Given the description of an element on the screen output the (x, y) to click on. 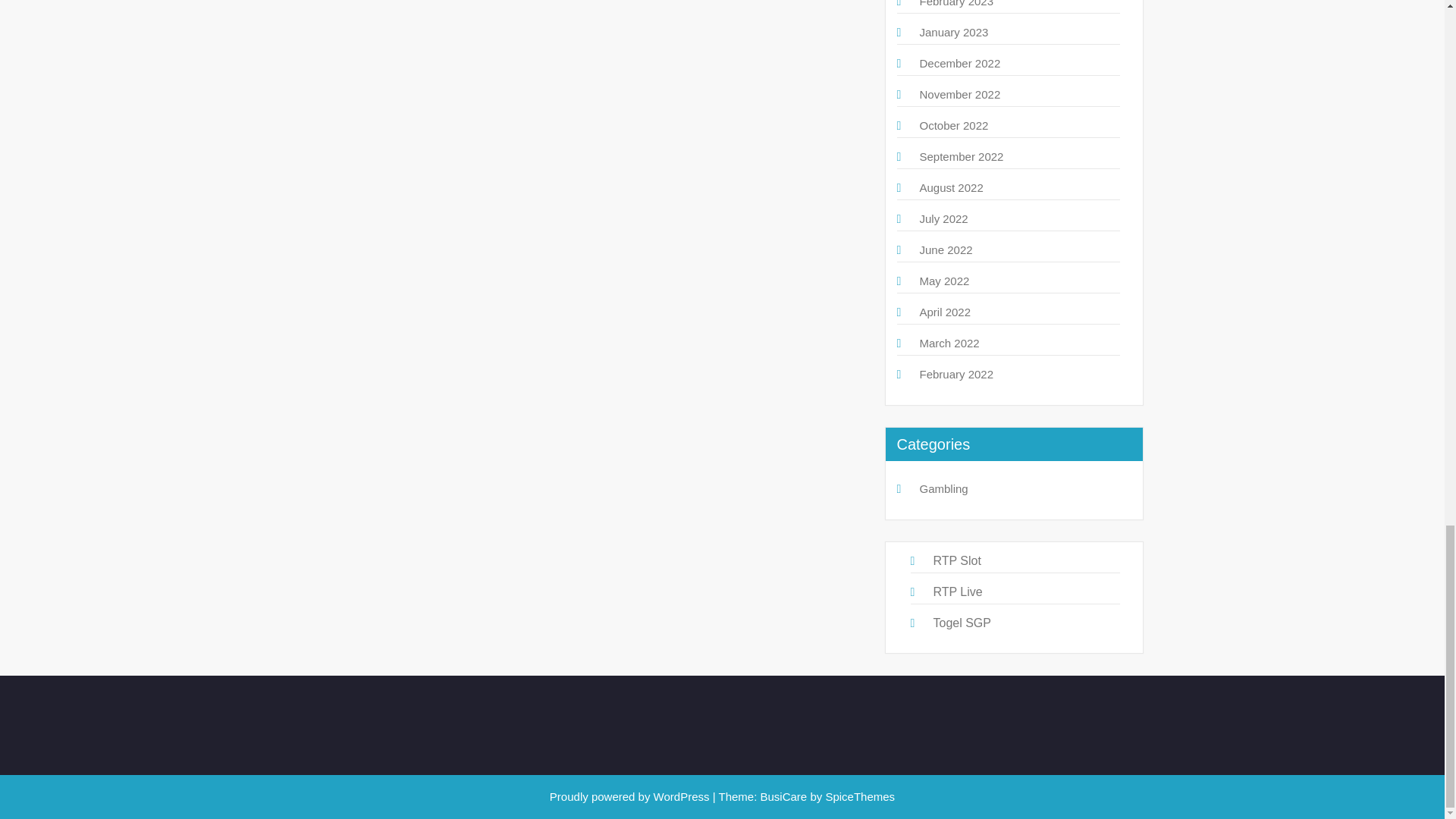
December 2022 (959, 62)
February 2023 (955, 3)
November 2022 (959, 93)
January 2023 (953, 31)
